Given the description of an element on the screen output the (x, y) to click on. 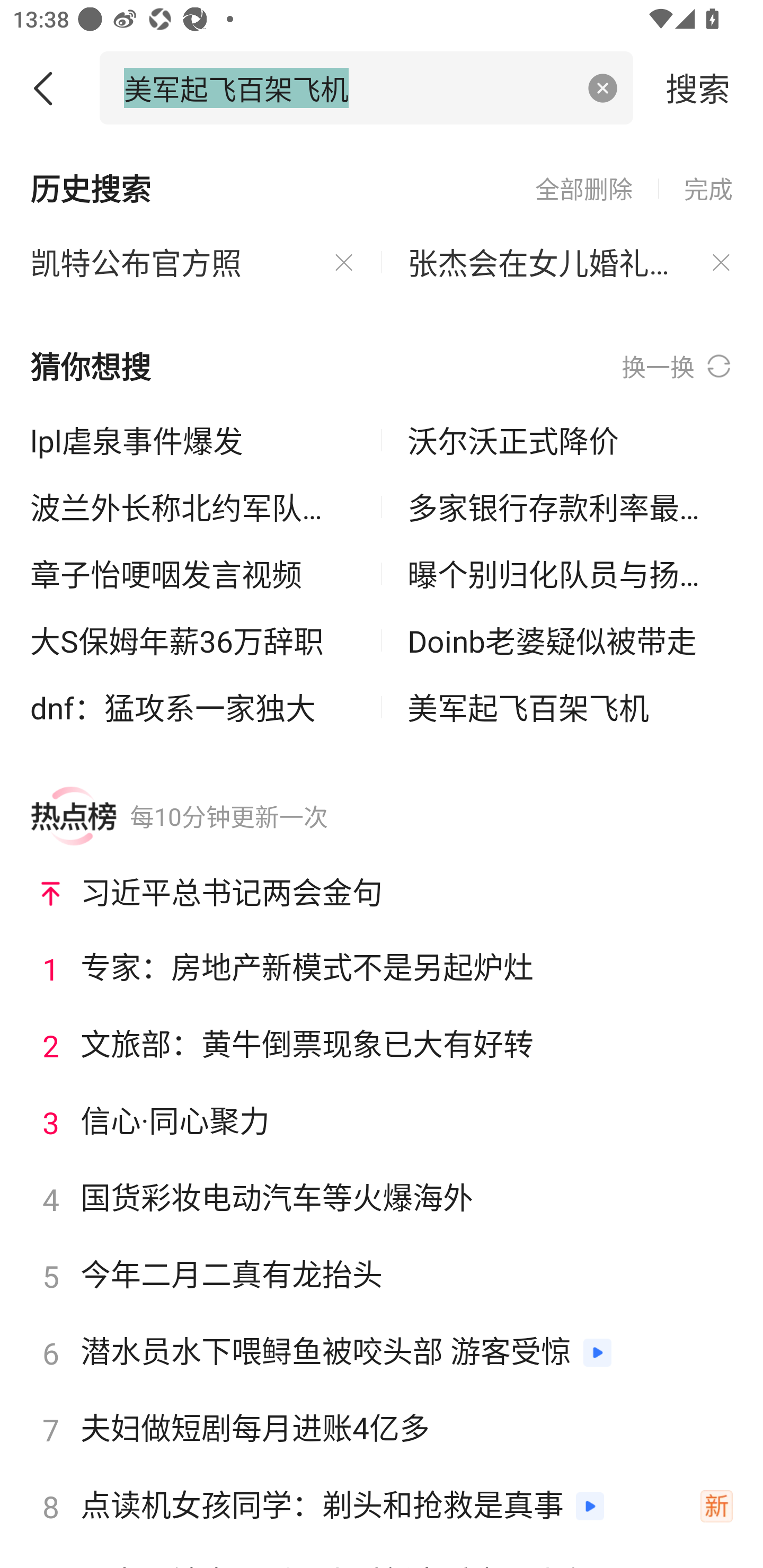
返回 (49, 87)
搜索 (698, 87)
美军起飞百架飞机 (347, 87)
清空 (602, 88)
凯特公布官方照 张杰会在女儿婚礼上唱三生三世 (381, 226)
凯特公布官方照 (193, 262)
张杰会在女儿婚礼上唱三生三世 (569, 262)
换一换 (676, 366)
lpl虐泉事件爆发 (193, 439)
沃尔沃正式降价 (569, 439)
波兰外长称北约军队已抵达乌克兰 (193, 506)
多家银行存款利率最高达10% (569, 506)
章子怡哽咽发言视频 (193, 573)
曝个别归化队员与扬科维奇关系破裂 (569, 573)
大S保姆年薪36万辞职 (193, 640)
Doinb老婆疑似被带走 (569, 640)
dnf：猛攻系一家独大 (193, 707)
美军起飞百架飞机 (569, 707)
